Given the description of an element on the screen output the (x, y) to click on. 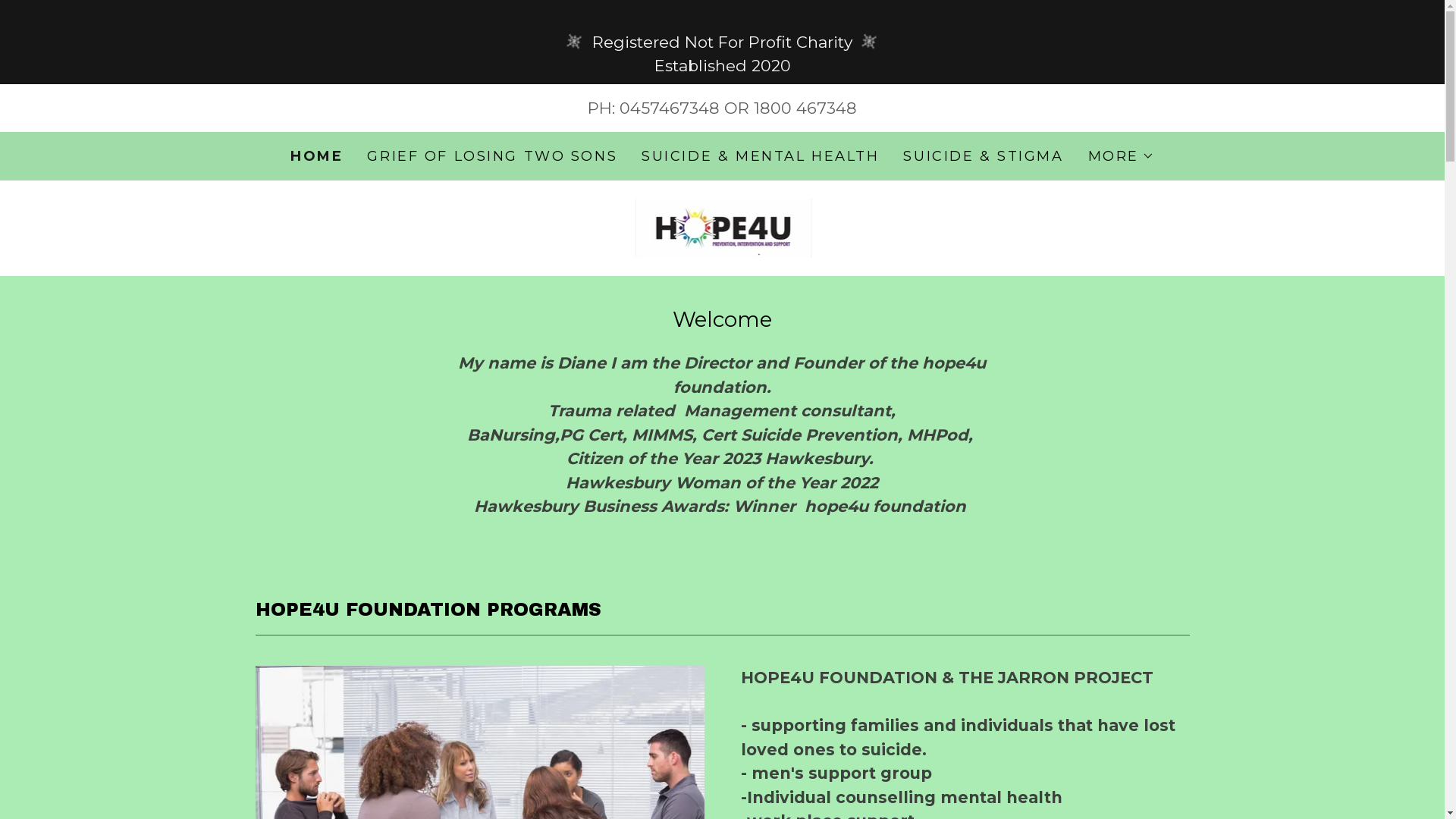
HOME Element type: text (316, 156)
SUICIDE & MENTAL HEALTH Element type: text (760, 155)
1800 467348 Element type: text (804, 107)
SUICIDE & STIGMA Element type: text (982, 155)
GRIEF OF LOSING TWO SONS Element type: text (491, 155)
0457467348 Element type: text (669, 107)
MORE Element type: text (1121, 156)
